Given the description of an element on the screen output the (x, y) to click on. 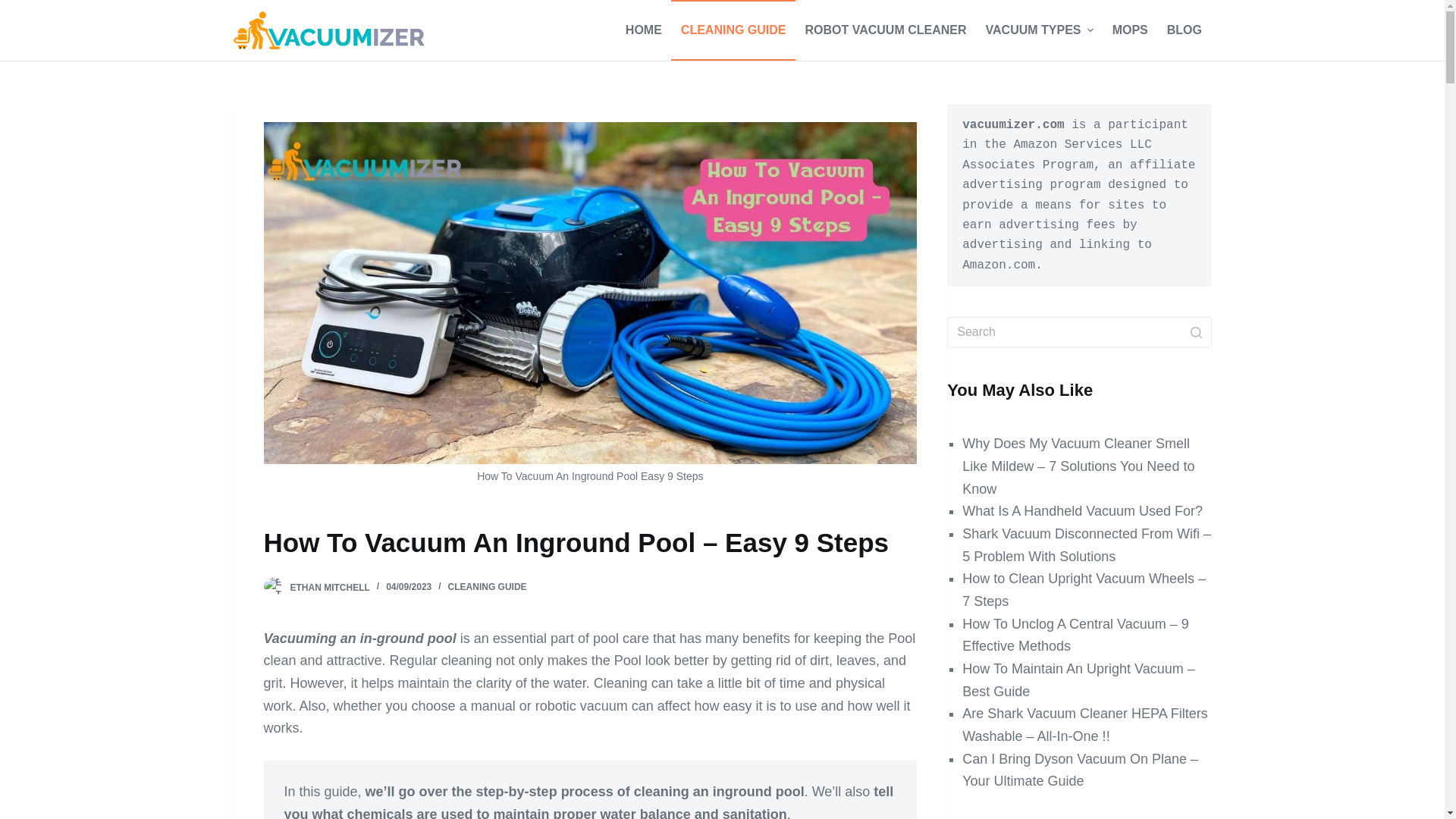
MOPS (1129, 30)
VACUUM TYPES (1038, 30)
HOME (643, 30)
ETHAN MITCHELL (329, 586)
Posts by Ethan Mitchell (329, 586)
CLEANING GUIDE (732, 30)
CLEANING GUIDE (487, 586)
ROBOT VACUUM CLEANER (884, 30)
Skip to content (15, 7)
